Given the description of an element on the screen output the (x, y) to click on. 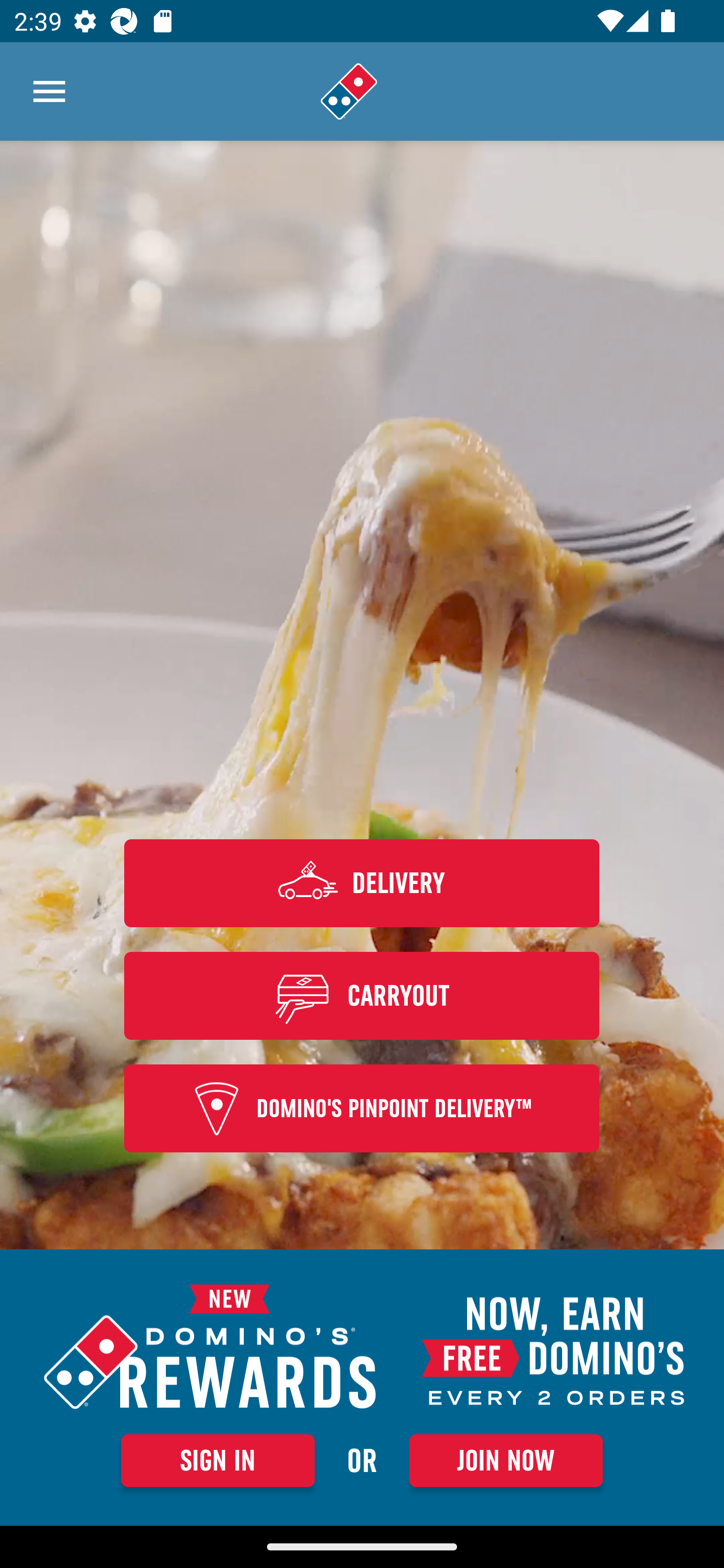
Expand Menu (49, 91)
DELIVERY (361, 882)
CARRYOUT (361, 995)
DOMINO'S PINPOINT DELIVERY™ (361, 1108)
SIGN IN (217, 1460)
JOIN NOW (506, 1460)
